Given the description of an element on the screen output the (x, y) to click on. 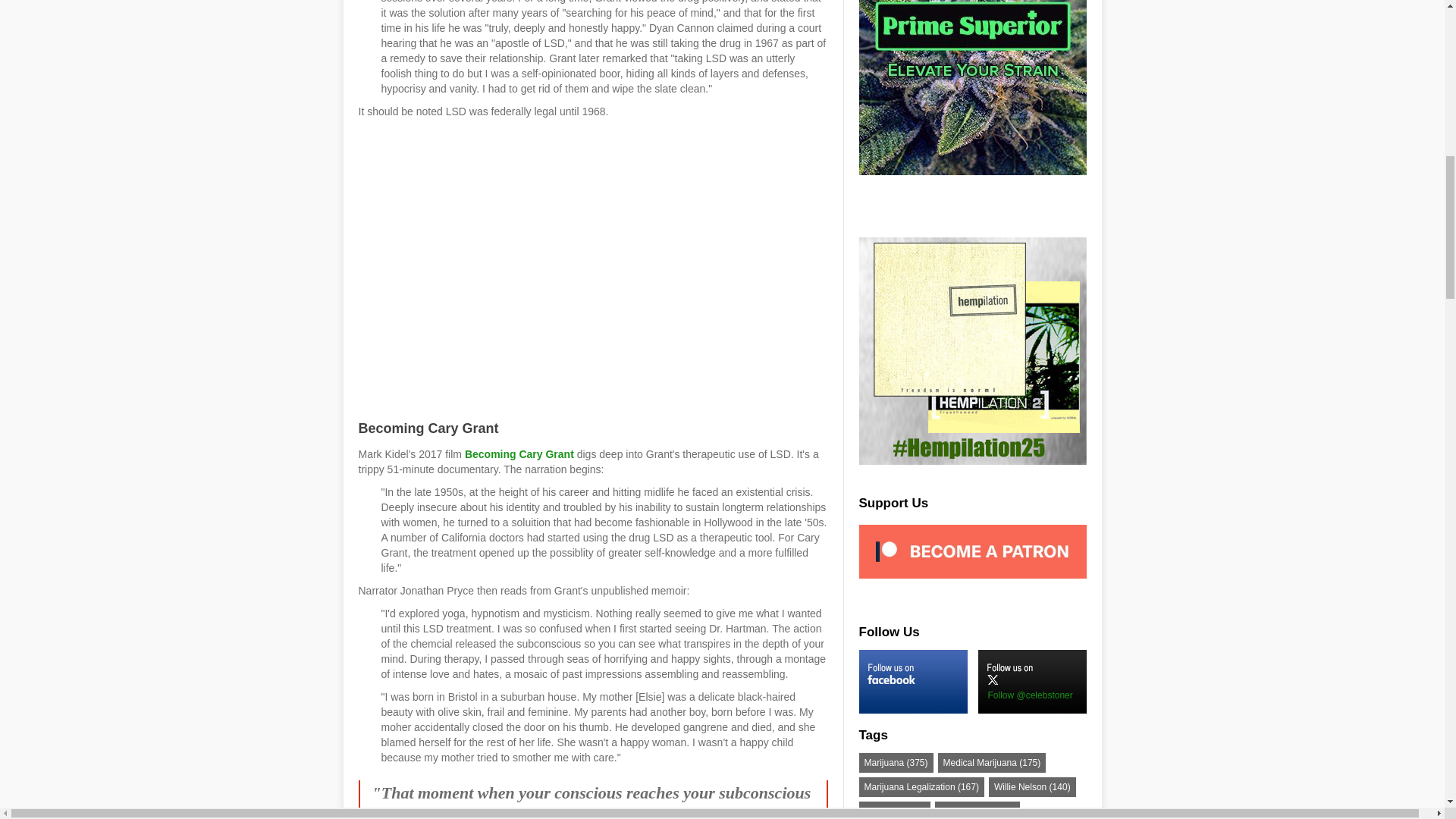
Marijuana Legalization topics (921, 786)
Medical Marijuana topics (991, 762)
Marijuana topics (896, 762)
Colorado topics (894, 810)
Willie Nelson topics (1031, 786)
Snoop Dogg topics (977, 810)
youtube.com (518, 453)
YouTube video player (570, 268)
